Given the description of an element on the screen output the (x, y) to click on. 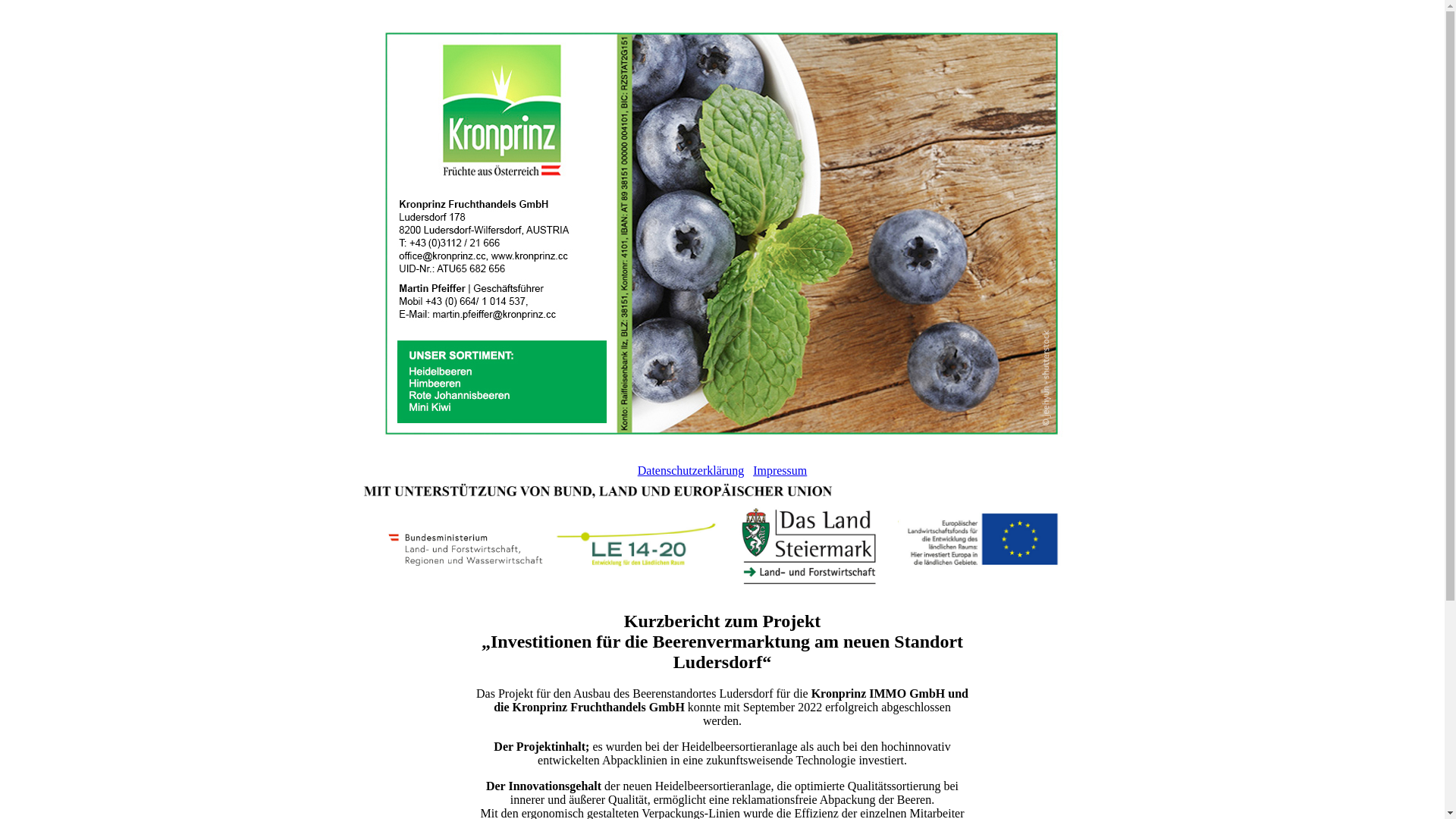
Impressum Element type: text (779, 470)
